Given the description of an element on the screen output the (x, y) to click on. 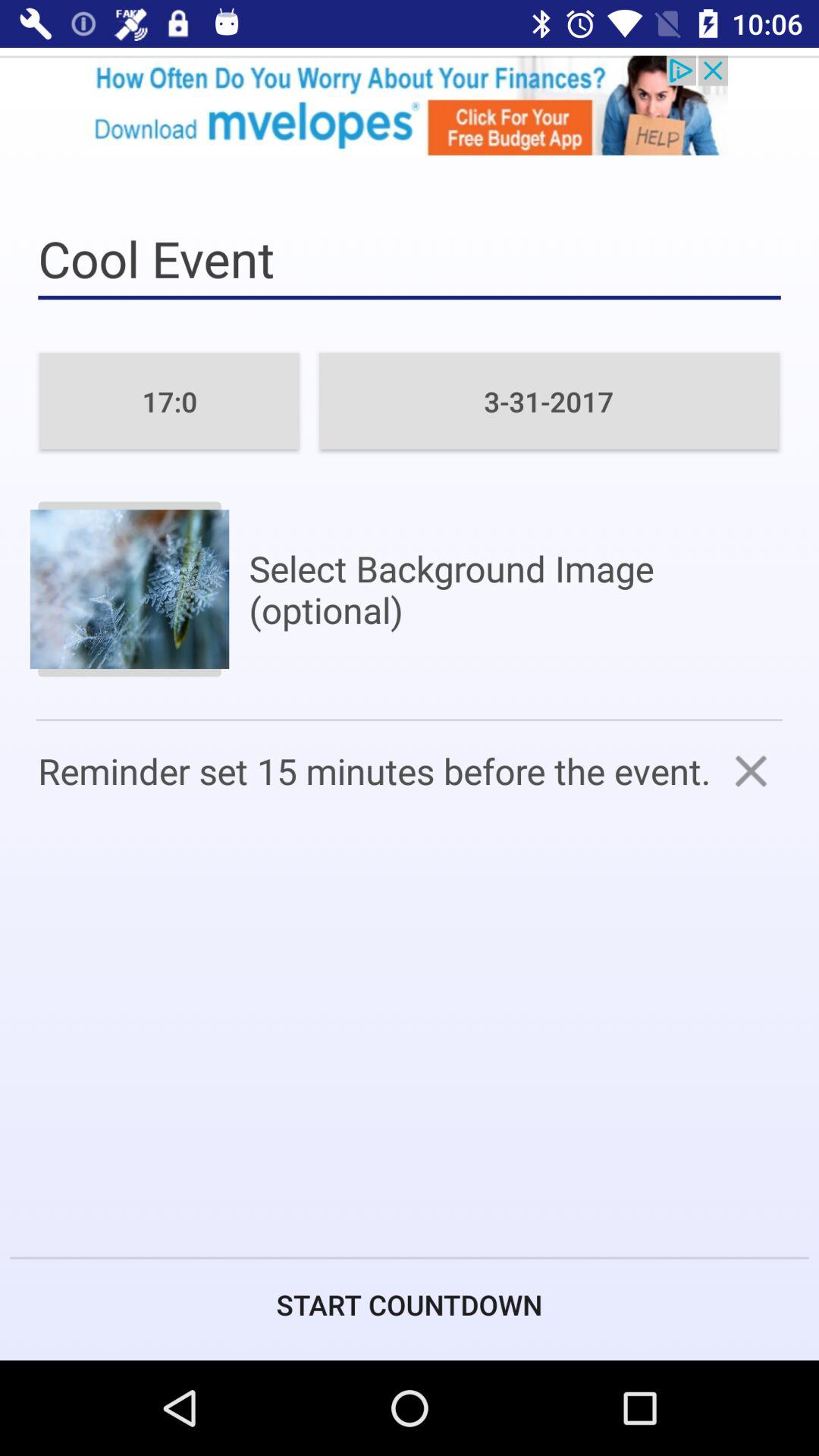
close this option (750, 770)
